Given the description of an element on the screen output the (x, y) to click on. 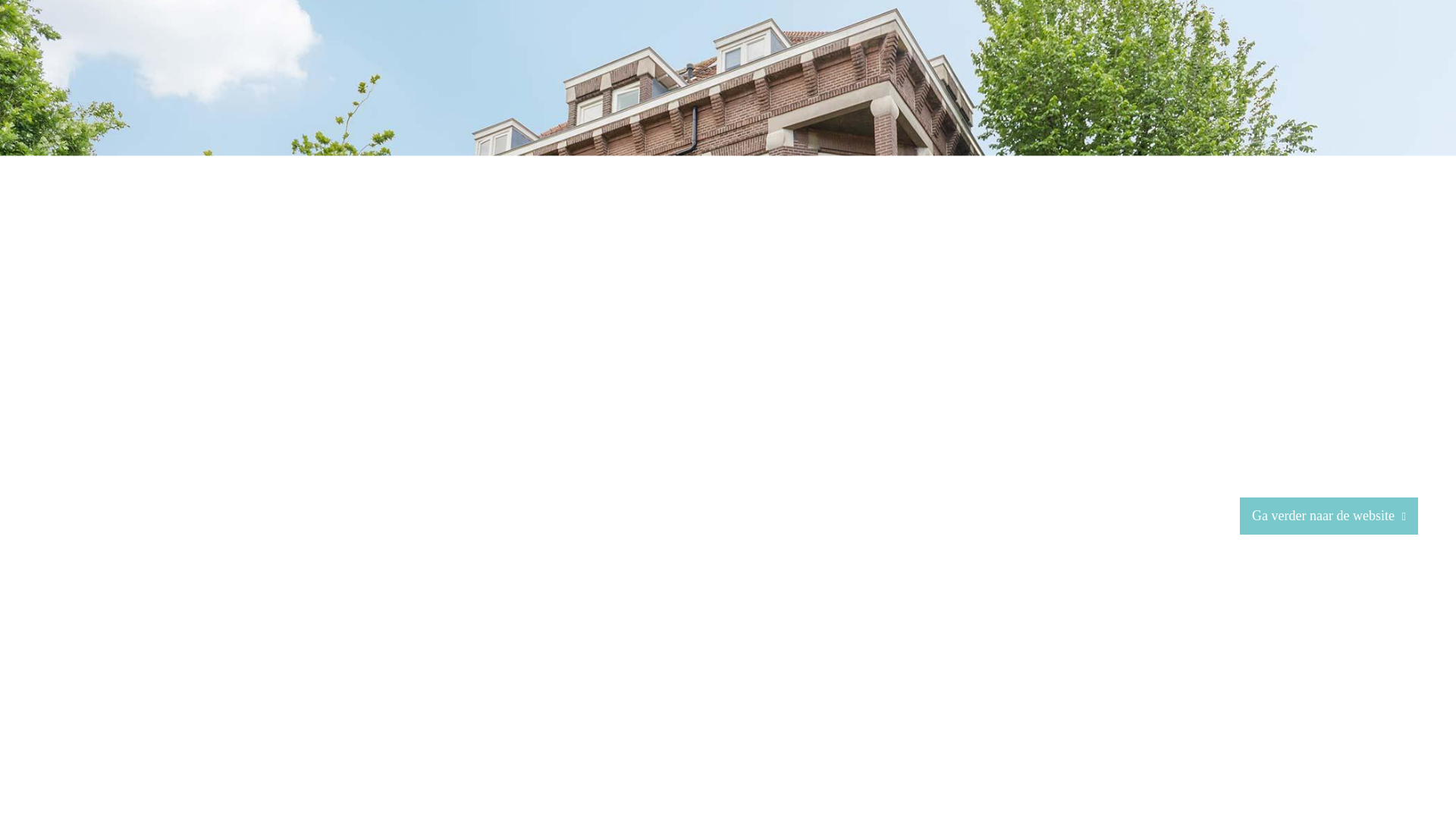
Behandelingen (1123, 52)
Onze praktijk (1020, 52)
Ga verder naar de website (1329, 515)
030 252 03 59 (512, 694)
Contact (1331, 52)
Behandelingen (1123, 52)
Contact (1331, 52)
English (1397, 52)
Home (947, 52)
English (1397, 52)
